Given the description of an element on the screen output the (x, y) to click on. 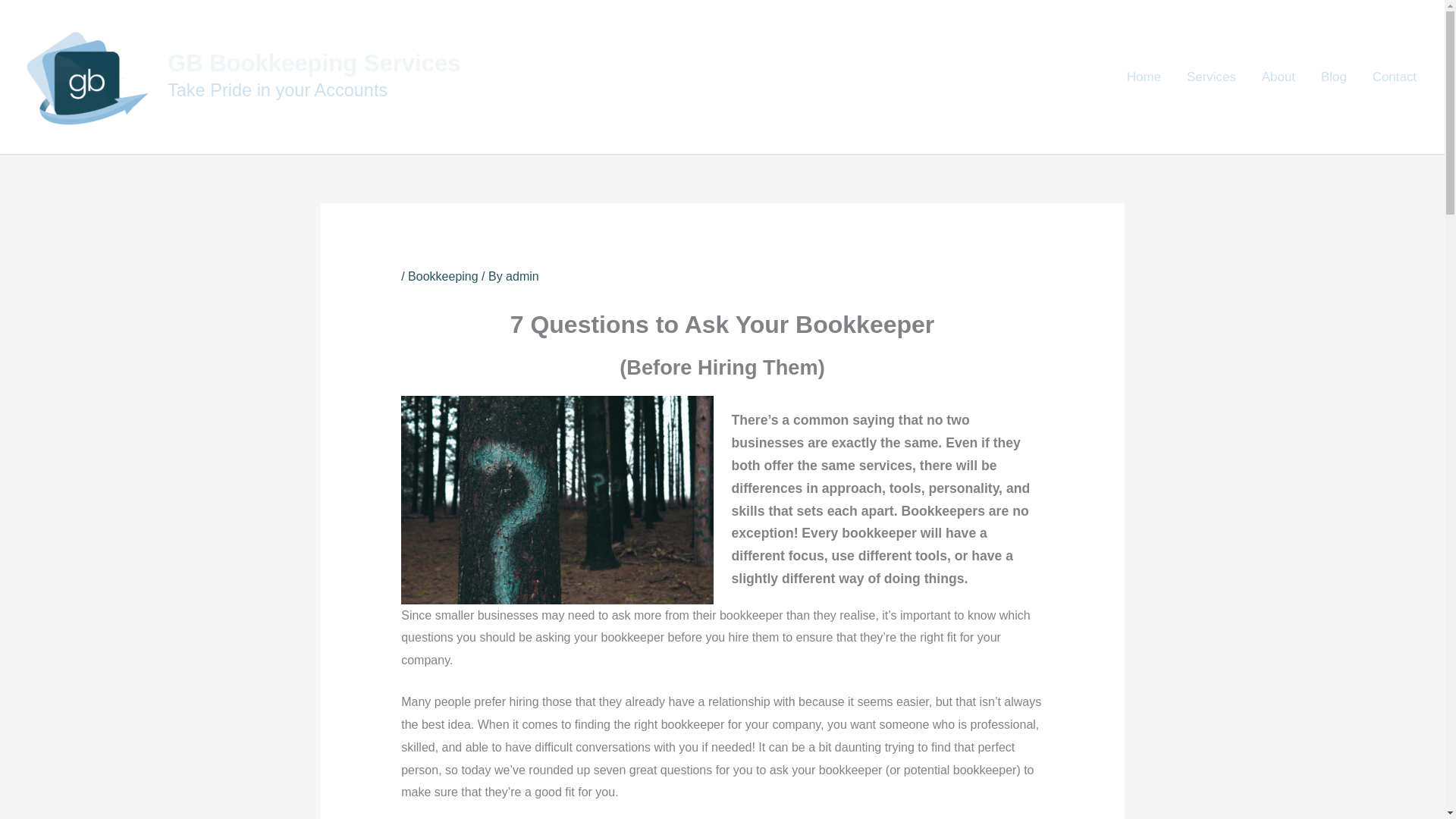
Contact (1394, 76)
Blog (1333, 76)
Services (1211, 76)
Home (1143, 76)
View all posts by admin (521, 276)
Bookkeeping (443, 276)
GB Bookkeeping Services (314, 62)
About (1278, 76)
admin (521, 276)
